Given the description of an element on the screen output the (x, y) to click on. 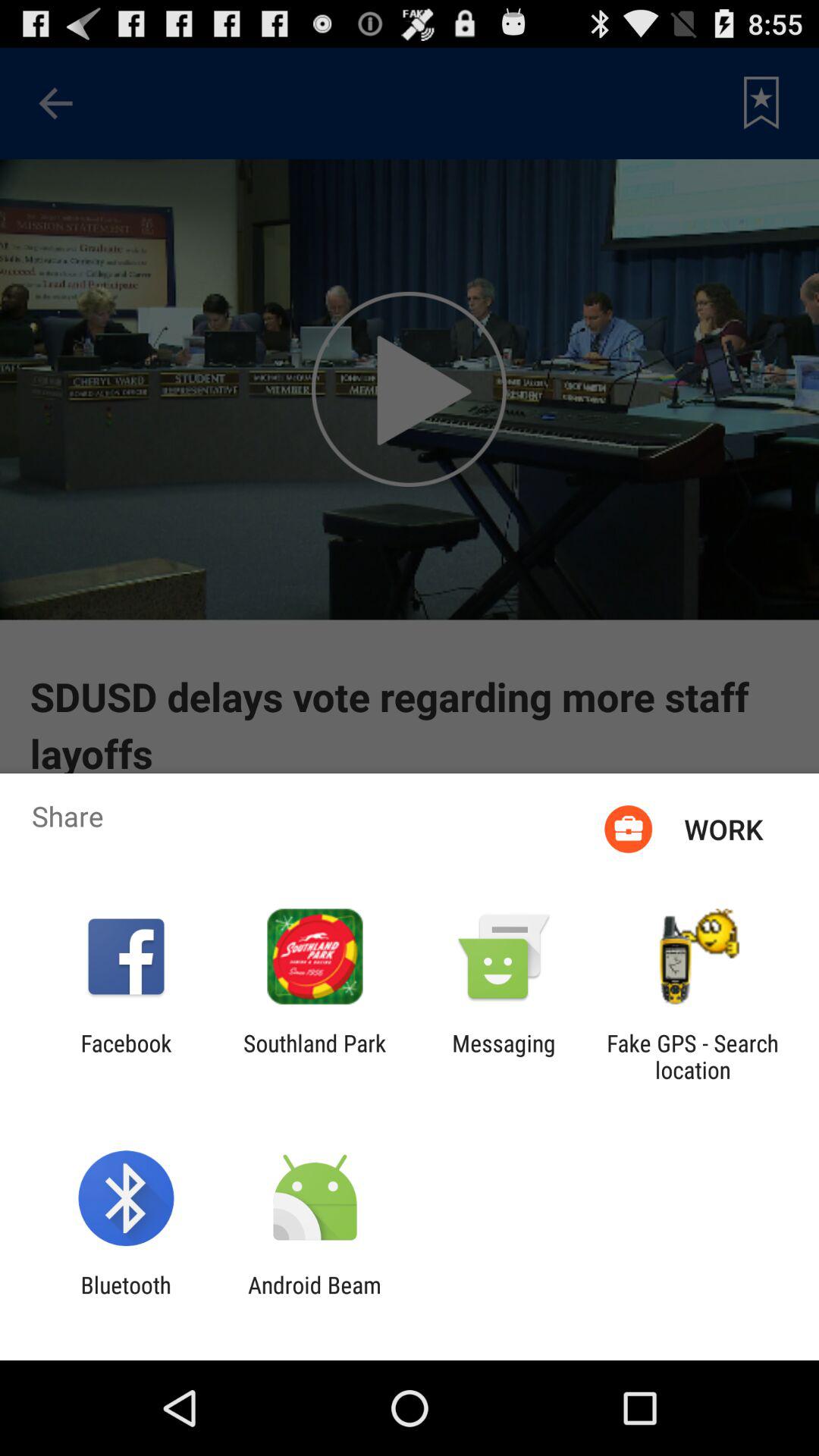
launch item next to southland park icon (503, 1056)
